Given the description of an element on the screen output the (x, y) to click on. 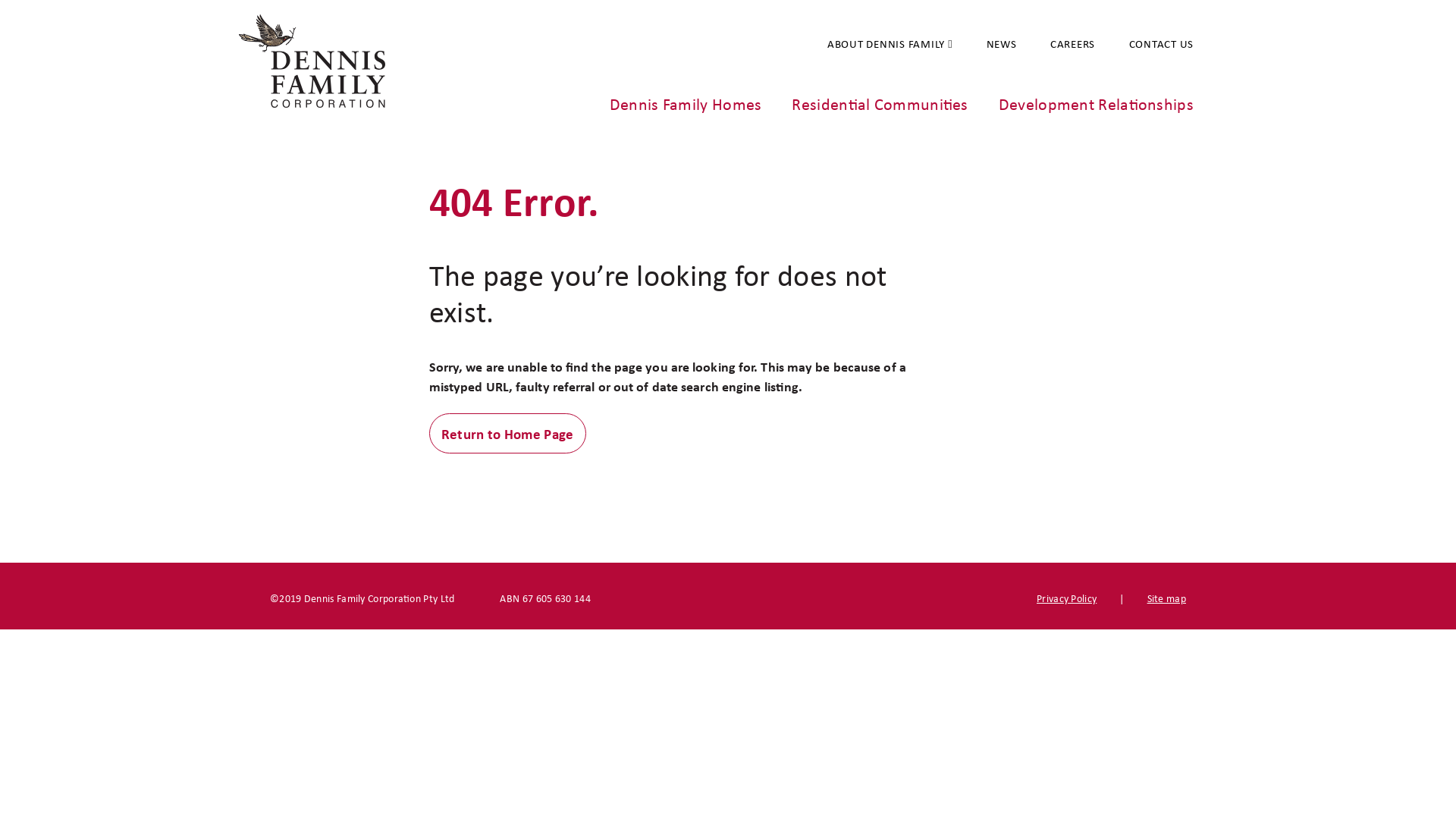
NEWS Element type: text (986, 43)
Return to Home Page Element type: text (507, 433)
ABOUT DENNIS FAMILY Element type: text (874, 42)
Site map Element type: text (1166, 597)
CAREERS Element type: text (1057, 43)
Privacy Policy Element type: text (1066, 597)
CONTACT US Element type: text (1145, 43)
Dennis Family Corporation Element type: hover (306, 60)
